Given the description of an element on the screen output the (x, y) to click on. 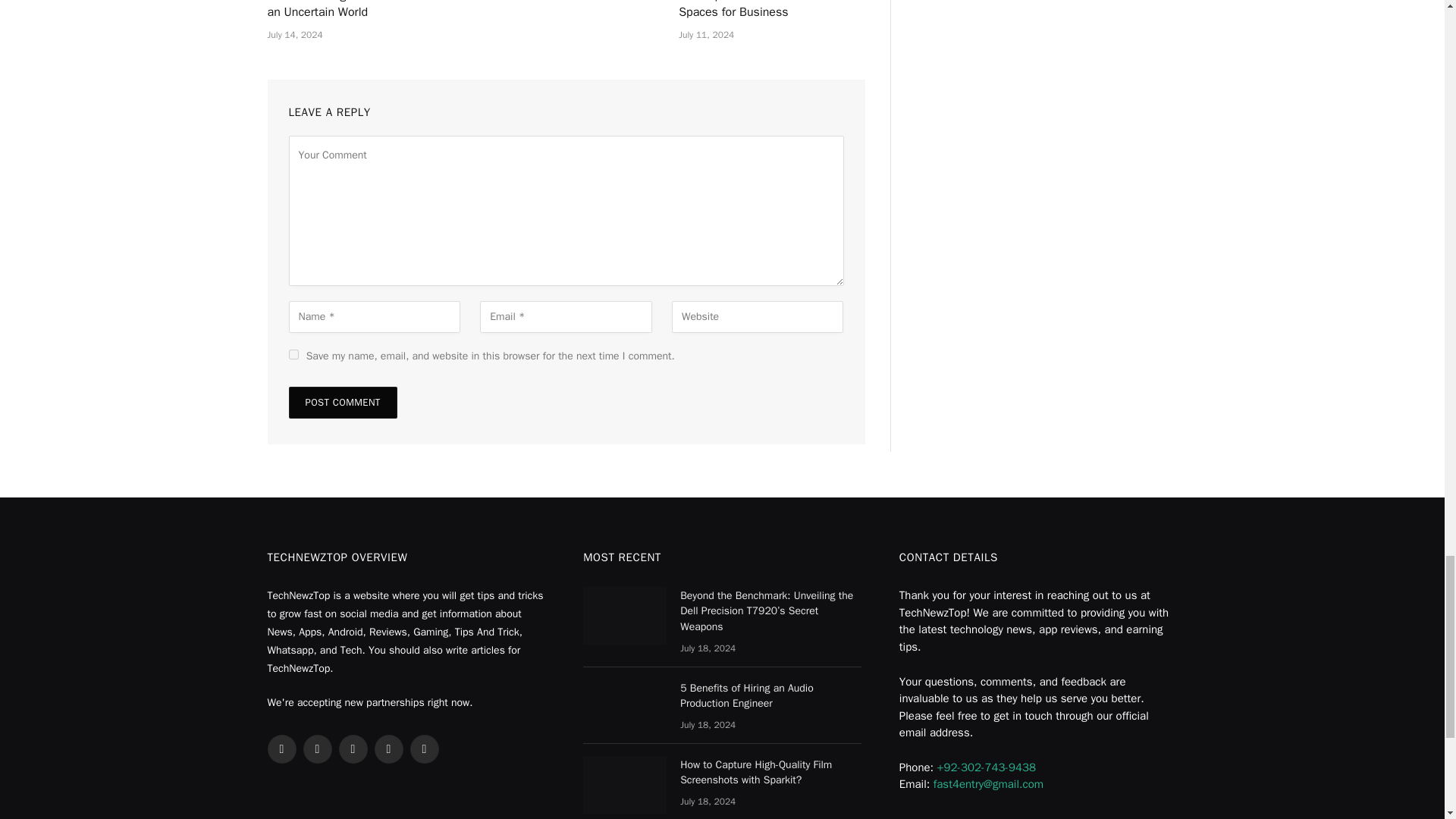
Post Comment (342, 402)
yes (293, 354)
